Given the description of an element on the screen output the (x, y) to click on. 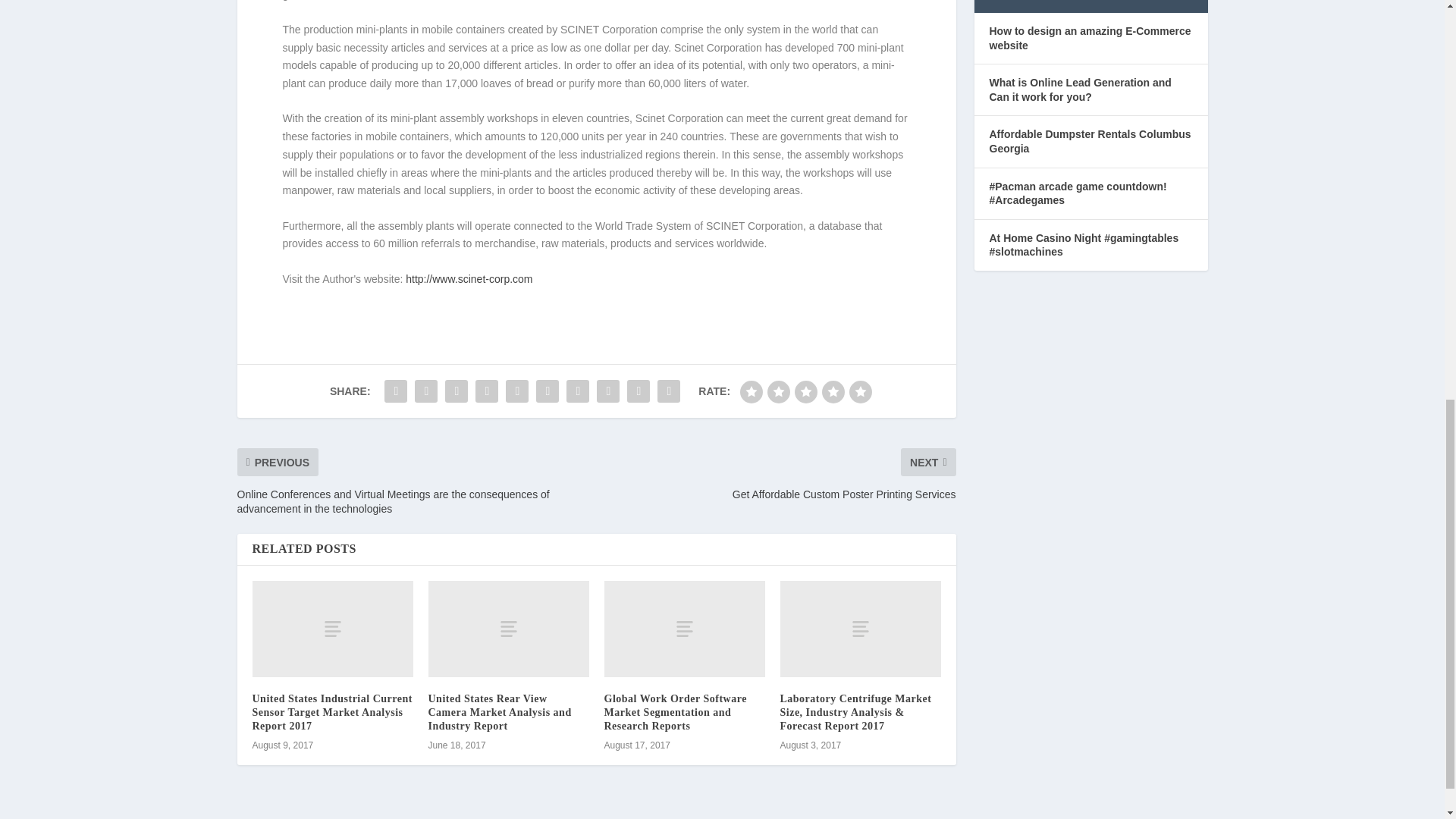
regular (805, 391)
good (833, 391)
poor (778, 391)
bad (750, 391)
